Given the description of an element on the screen output the (x, y) to click on. 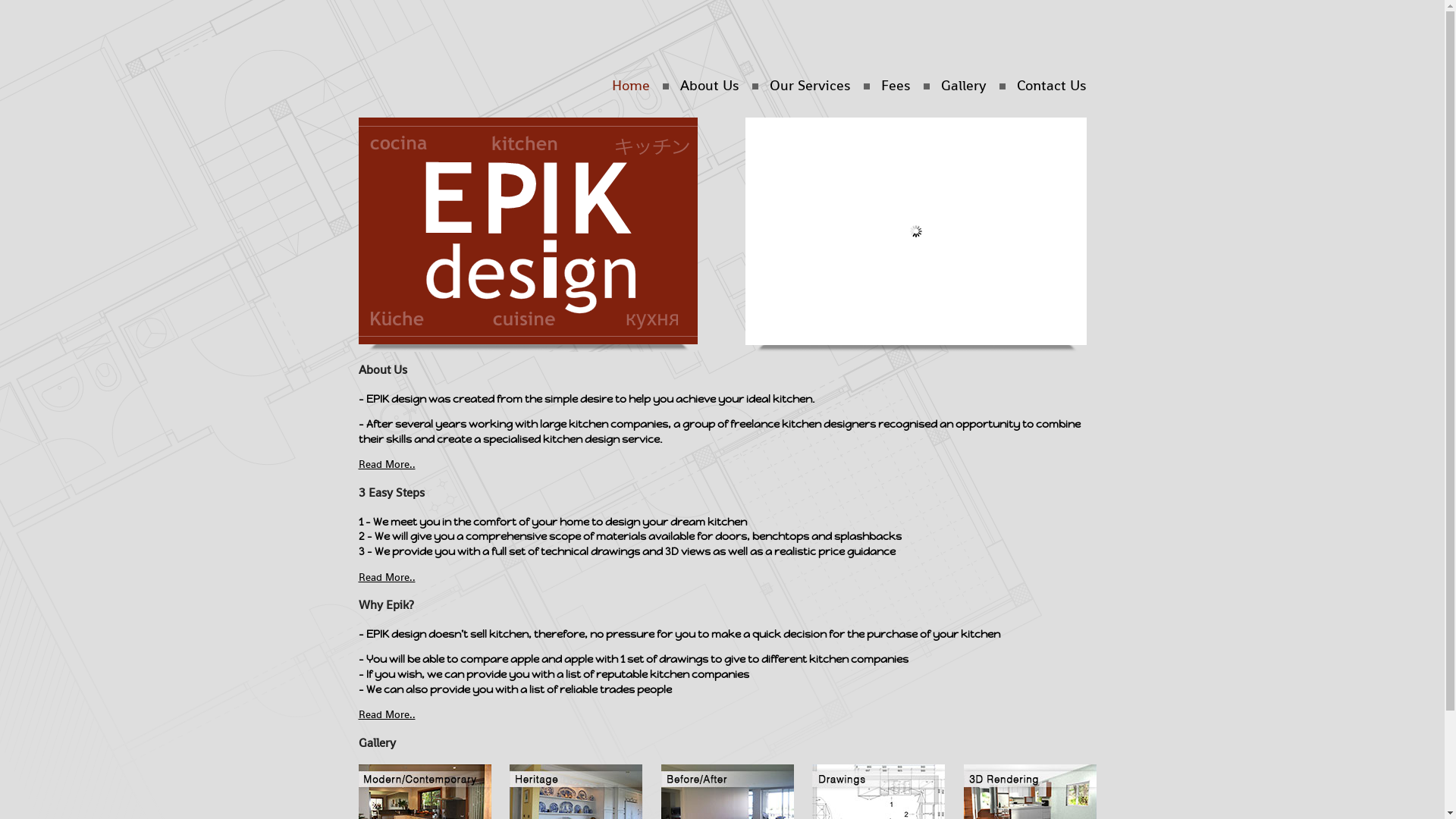
Read More.. Element type: text (385, 576)
Read More.. Element type: text (385, 714)
Contact Us Element type: text (1050, 84)
Read More.. Element type: text (385, 463)
Home Element type: text (630, 84)
Our Services Element type: text (809, 84)
About Us Element type: text (708, 84)
Gallery Element type: text (962, 84)
Fees Element type: text (895, 84)
